Given the description of an element on the screen output the (x, y) to click on. 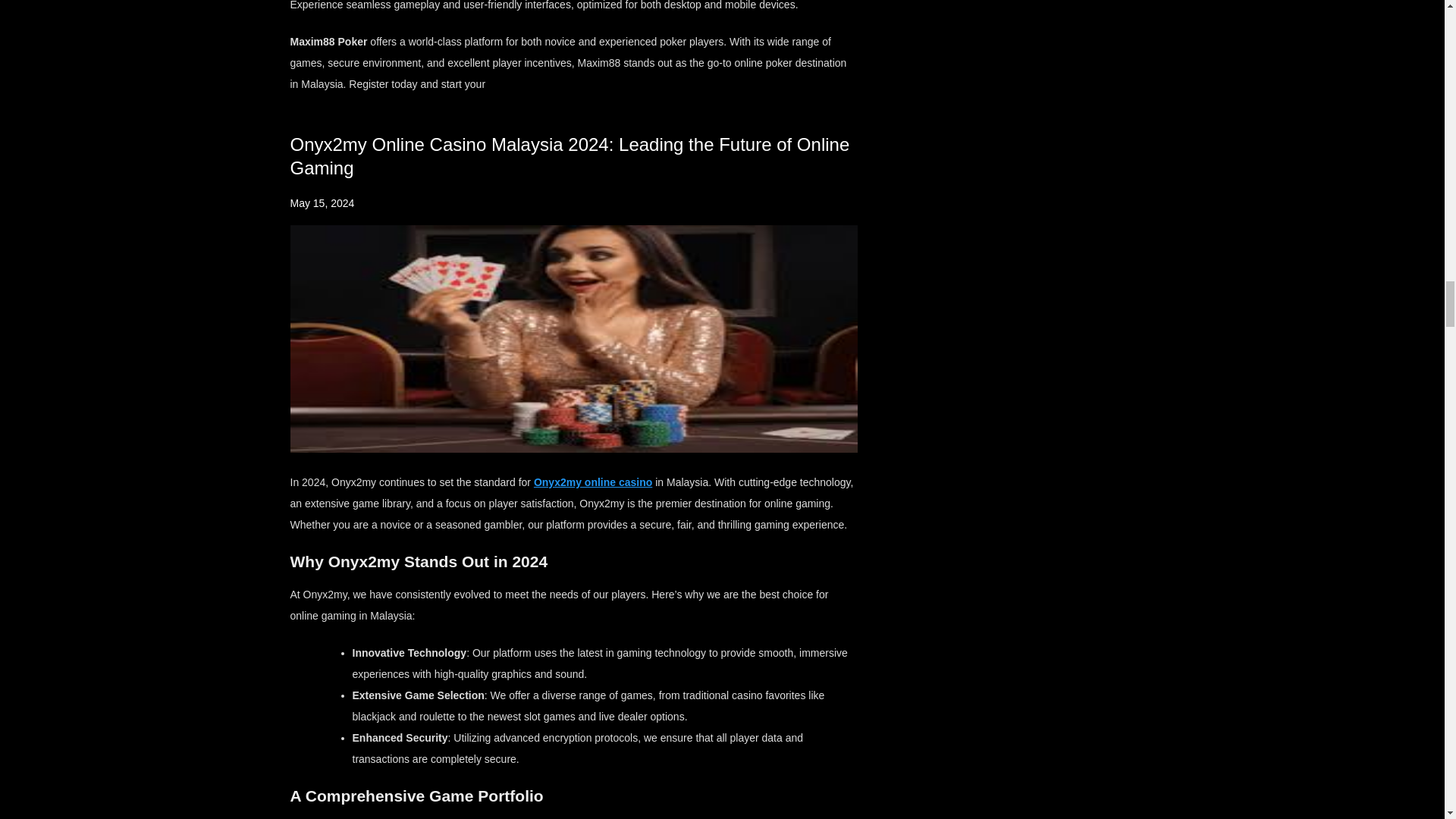
Onyx2my online casino (593, 481)
May 15, 2024 (321, 203)
